Given the description of an element on the screen output the (x, y) to click on. 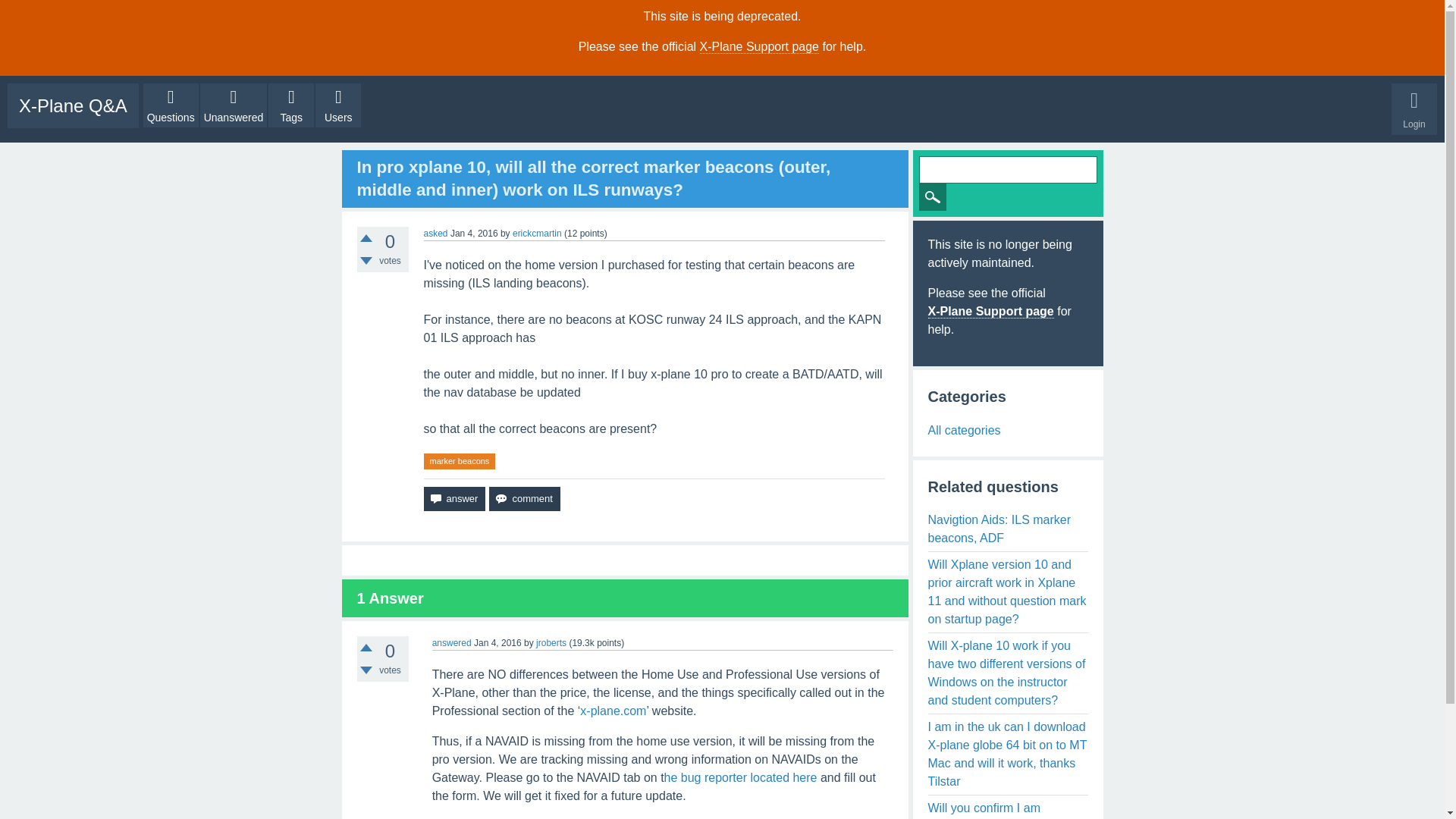
jroberts (550, 643)
Tags (290, 105)
Navigtion Aids: ILS marker beacons, ADF (1007, 531)
comment (524, 498)
Click to vote down (365, 670)
Questions (170, 105)
Unanswered (233, 105)
Answer this question (453, 498)
Click to vote down (365, 260)
Search (932, 196)
